Given the description of an element on the screen output the (x, y) to click on. 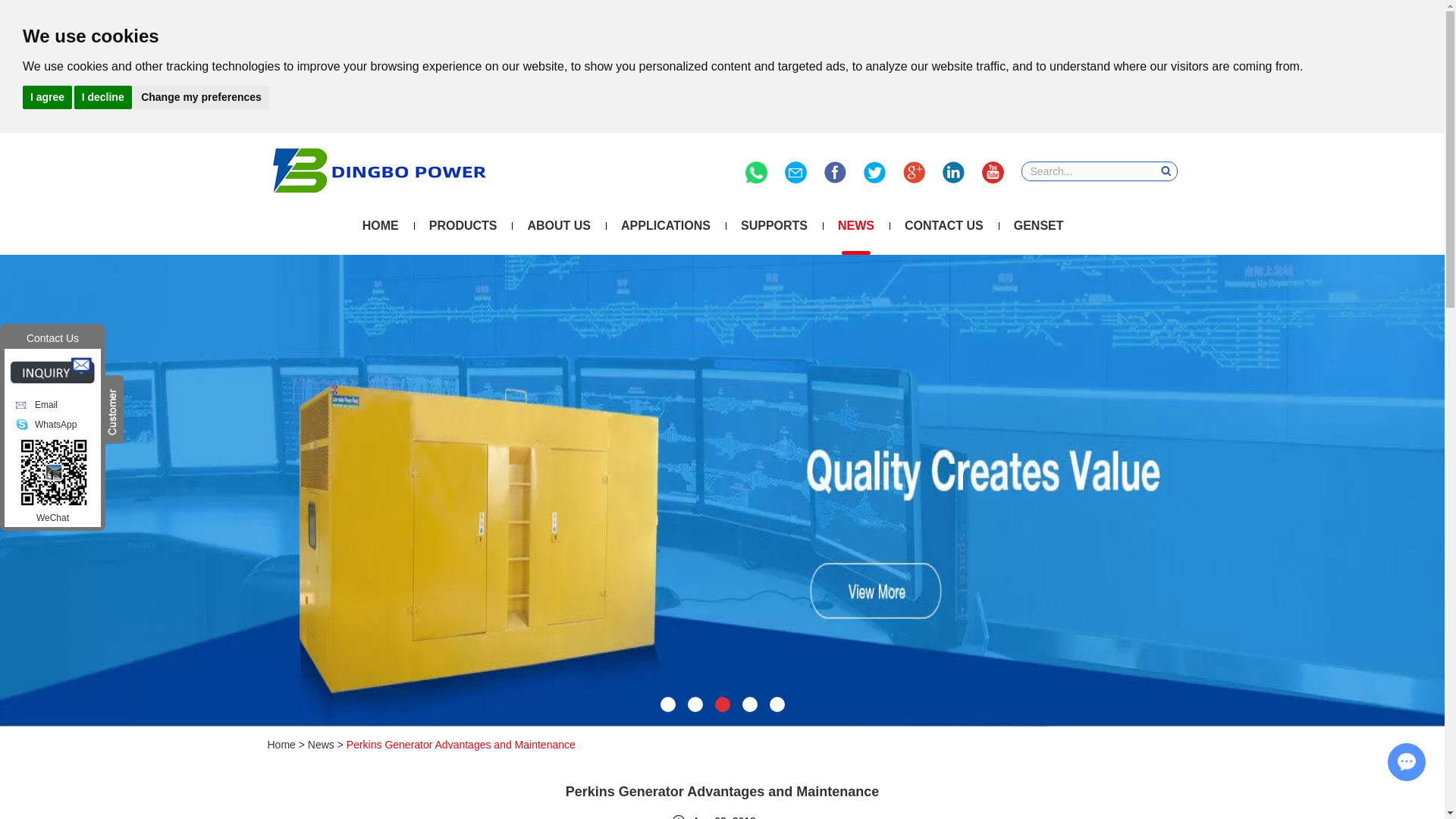
I agree (47, 96)
Change my preferences (201, 96)
Guangxi Dingbo Generator Set Manufacturing Co., Ltd. (378, 169)
I decline (103, 96)
PRODUCTS (463, 226)
HOME (380, 226)
